Given the description of an element on the screen output the (x, y) to click on. 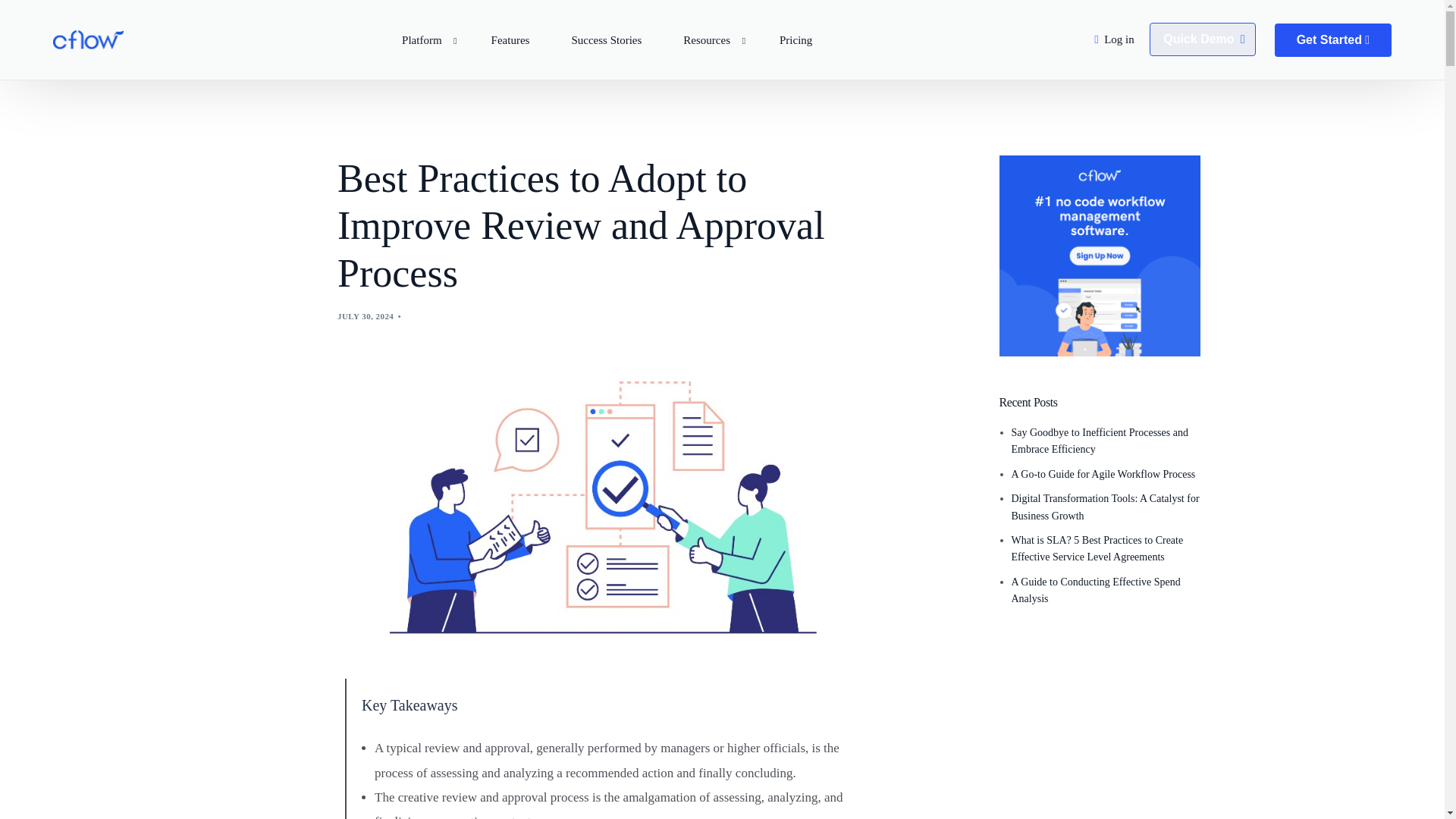
Platform (425, 39)
Pricing (795, 39)
Success Stories (606, 39)
Resources (710, 39)
Quick Demo (1202, 39)
Features (510, 39)
Get Started (1333, 39)
Log in (1118, 39)
